Given the description of an element on the screen output the (x, y) to click on. 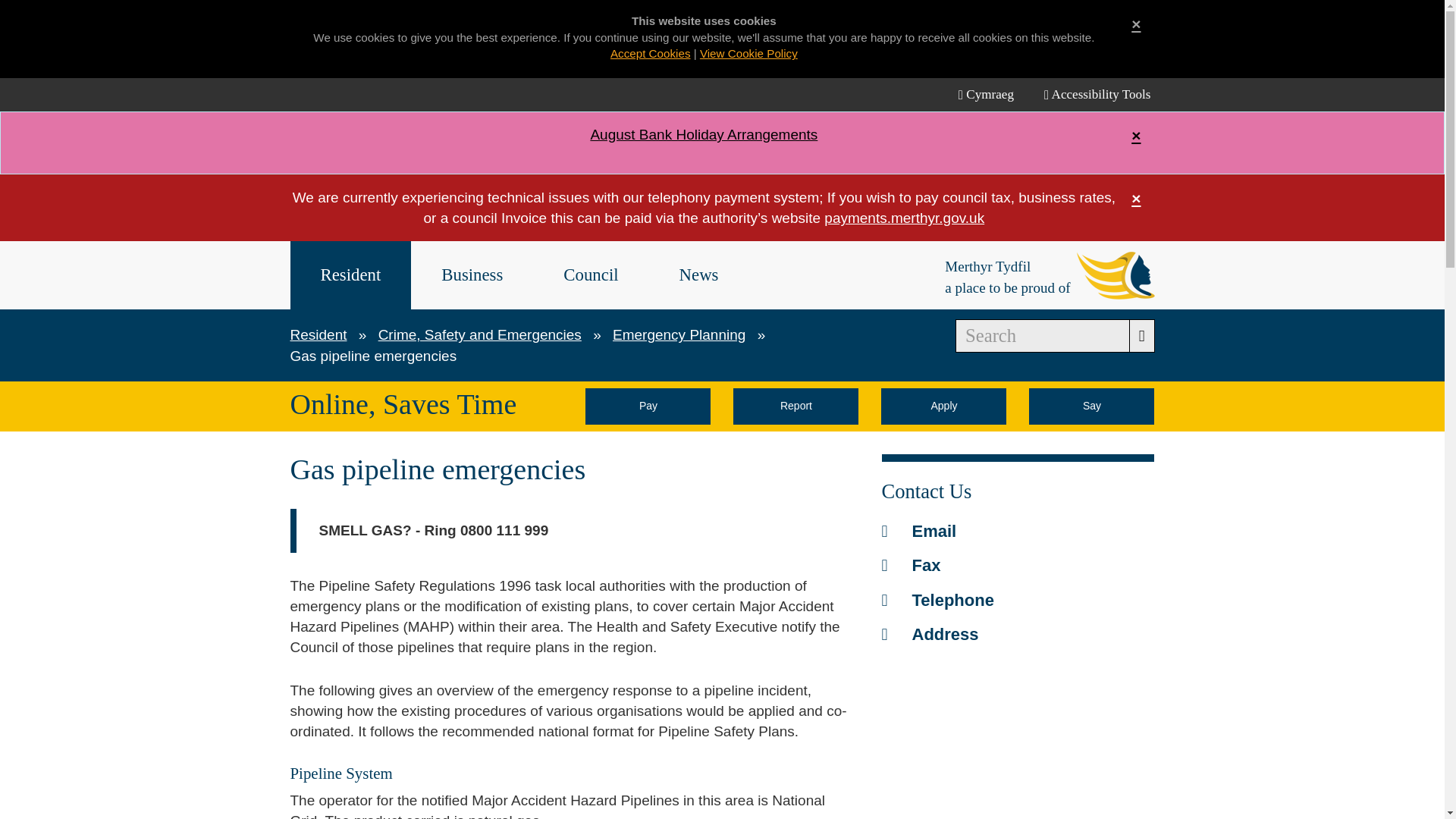
Telephone (936, 599)
Resident (321, 334)
Business (471, 274)
August Bank Holiday Arrangements (702, 134)
Resident (349, 274)
View Cookie Policy (748, 53)
News (699, 274)
Accessibility Tools (1097, 94)
Pay (647, 406)
Fax (910, 565)
